Given the description of an element on the screen output the (x, y) to click on. 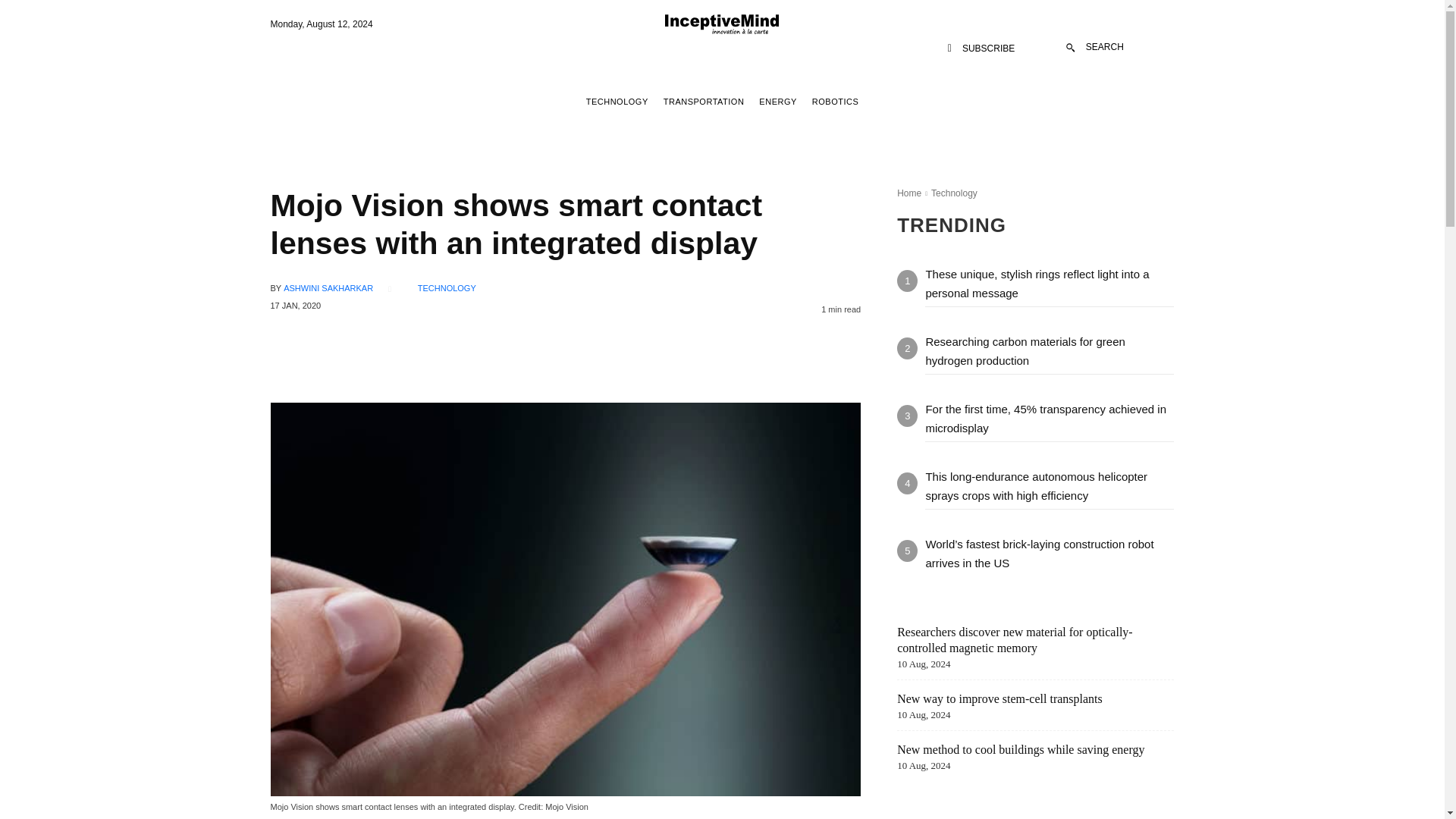
SEARCH (1094, 46)
TECHNOLOGY (617, 101)
Technology (953, 193)
ROBOTICS (834, 101)
New way to improve stem-cell transplants (999, 698)
SUBSCRIBE (980, 48)
ASHWINI SAKHARKAR (327, 288)
